Given the description of an element on the screen output the (x, y) to click on. 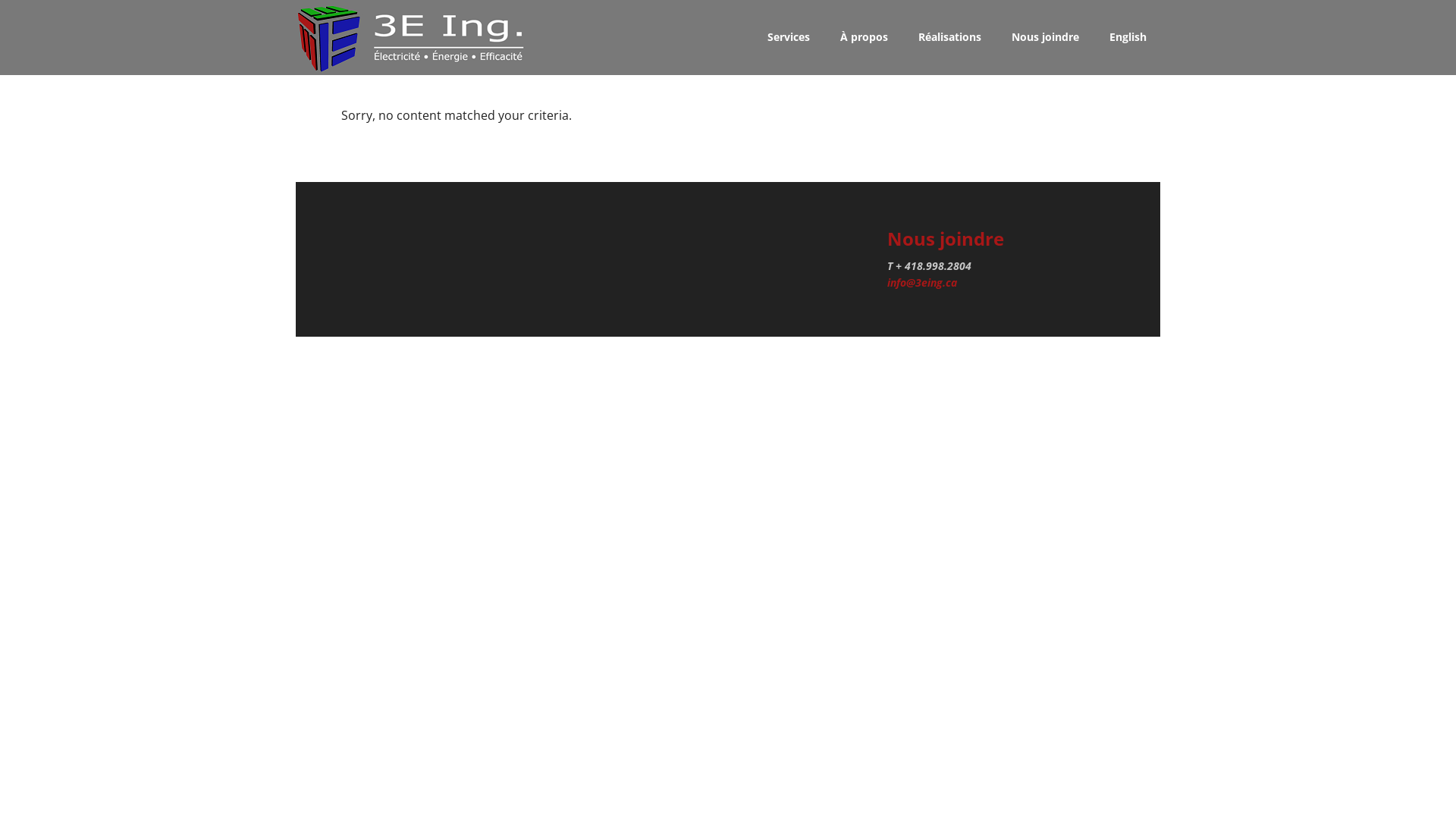
3E Ing. Element type: text (416, 37)
Services Element type: text (788, 37)
Nous joindre Element type: text (945, 238)
Nous joindre Element type: text (1044, 37)
info@3eing.ca Element type: text (922, 282)
English Element type: text (1127, 37)
